Given the description of an element on the screen output the (x, y) to click on. 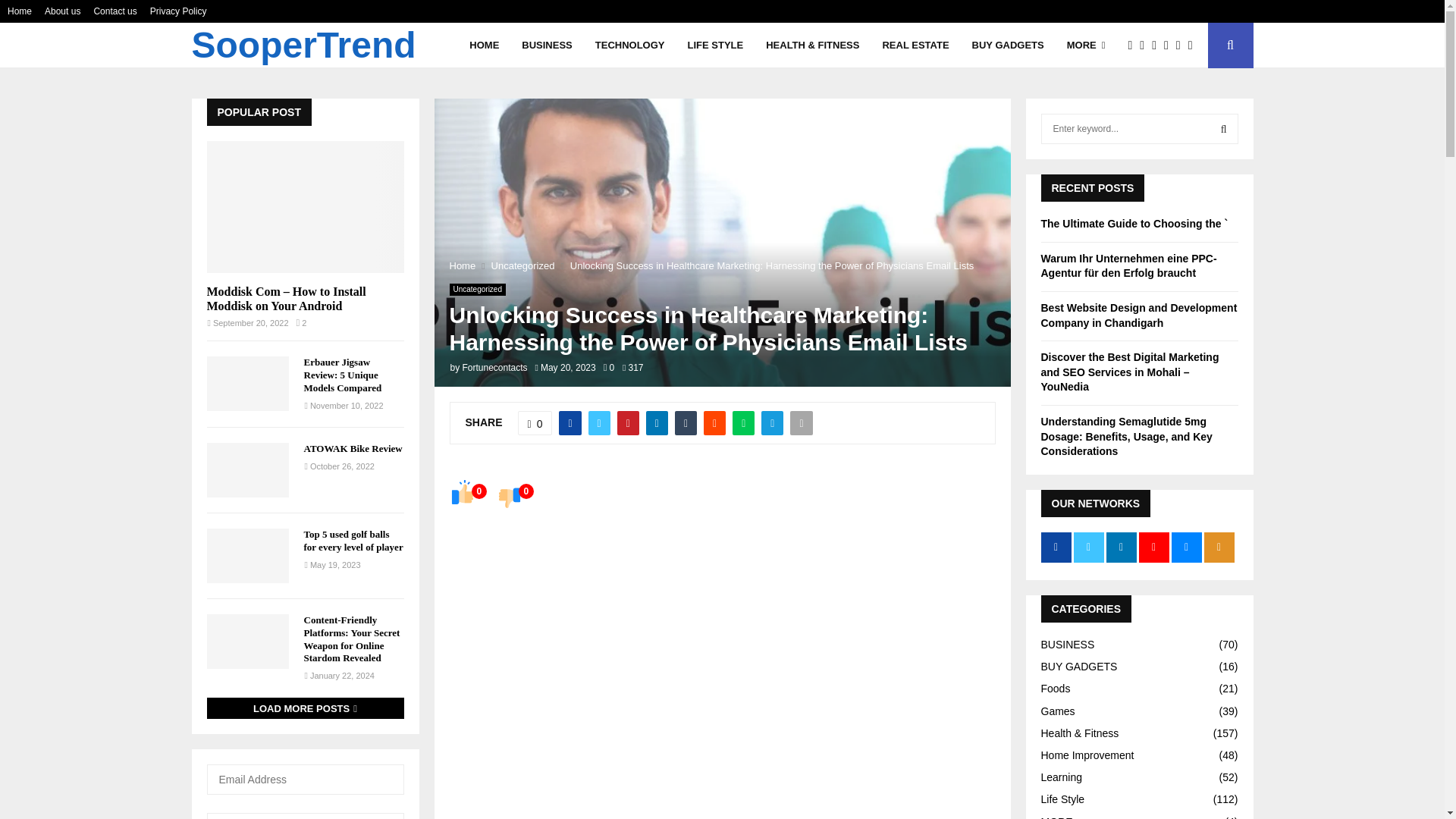
Fortunecontacts (495, 367)
TECHNOLOGY (630, 44)
Contact us (114, 11)
Home (462, 265)
Privacy Policy (177, 11)
About us (62, 11)
REAL ESTATE (915, 44)
Uncategorized (523, 265)
SooperTrend (302, 44)
BUSINESS (546, 44)
Home (19, 11)
Like (535, 422)
BUY GADGETS (1007, 44)
